Given the description of an element on the screen output the (x, y) to click on. 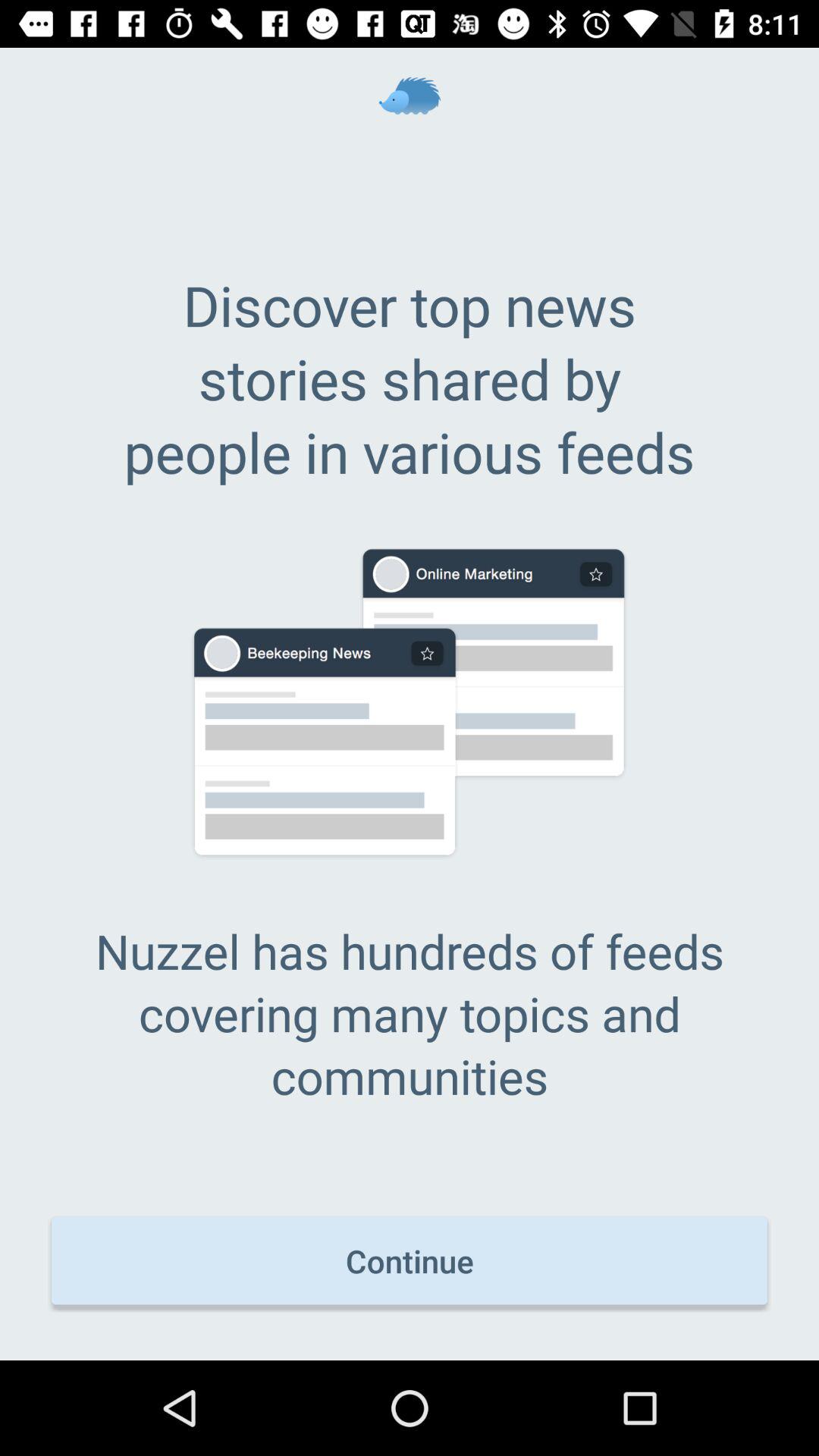
swipe to continue (409, 1260)
